Given the description of an element on the screen output the (x, y) to click on. 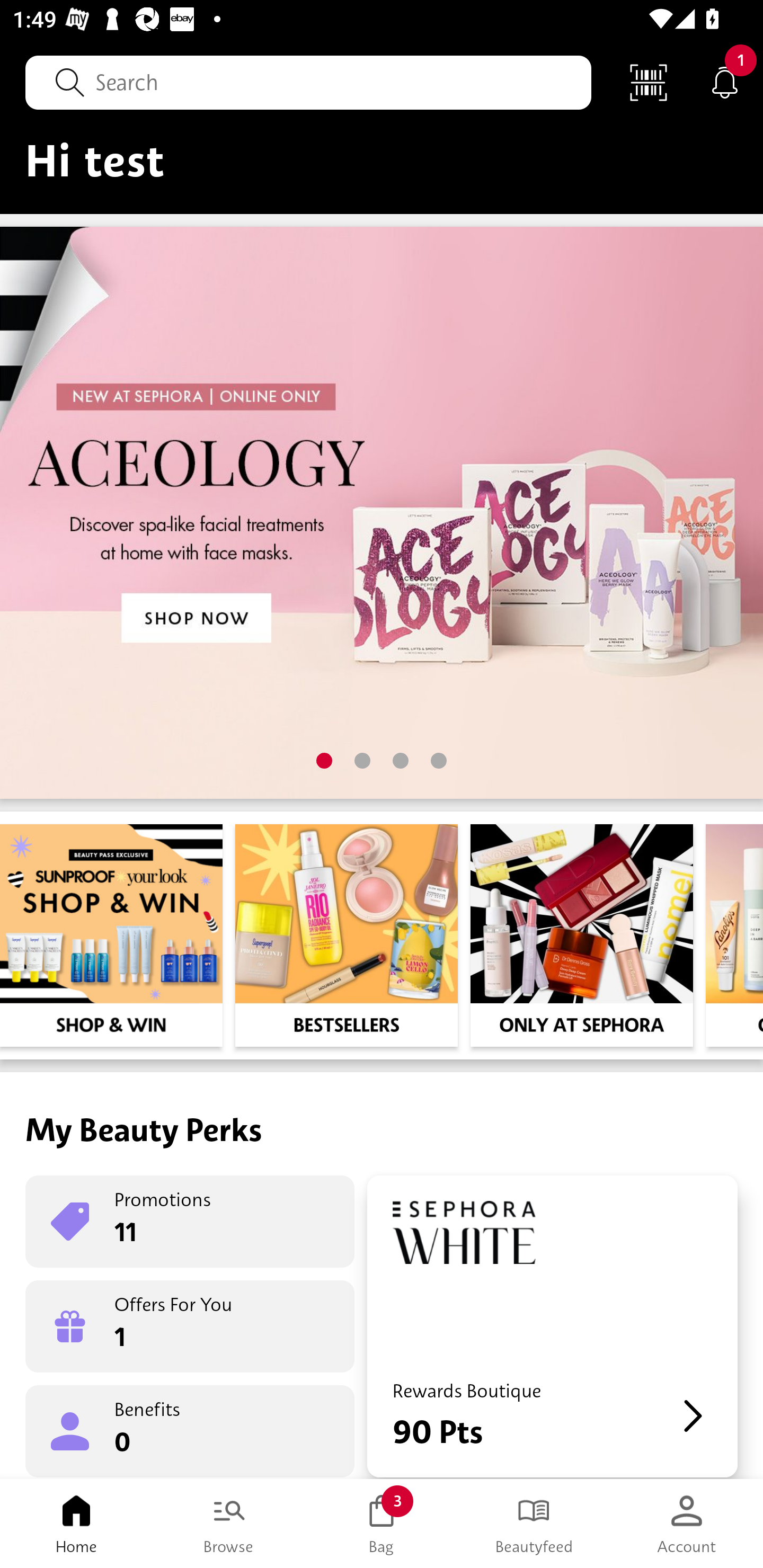
Scan Code (648, 81)
Notifications (724, 81)
Search (308, 81)
Promotions 11 (189, 1221)
Rewards Boutique 90 Pts (552, 1326)
Offers For You 1 (189, 1326)
Benefits 0 (189, 1430)
Browse (228, 1523)
Bag 3 Bag (381, 1523)
Beautyfeed (533, 1523)
Account (686, 1523)
